Given the description of an element on the screen output the (x, y) to click on. 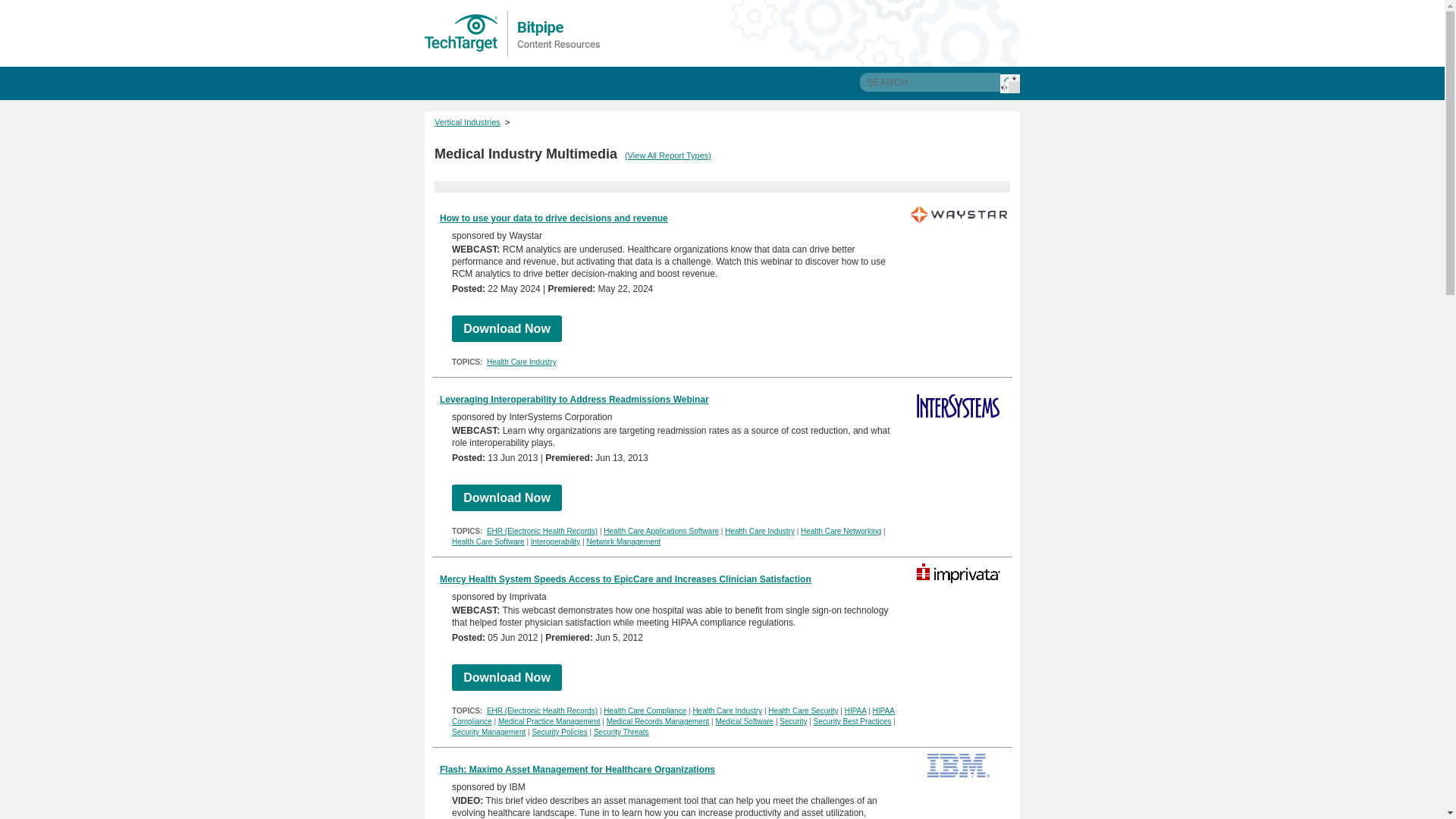
Security (792, 721)
Security Management (488, 732)
Flash: Maximo Asset Management for Healthcare Organizations (576, 769)
Security Threats (621, 732)
Health Care Industry (521, 361)
Medical Software (743, 721)
Health Care Compliance (644, 710)
Health Care Industry (727, 710)
Health Care Software (487, 541)
Bitpipe.com (513, 33)
